Given the description of an element on the screen output the (x, y) to click on. 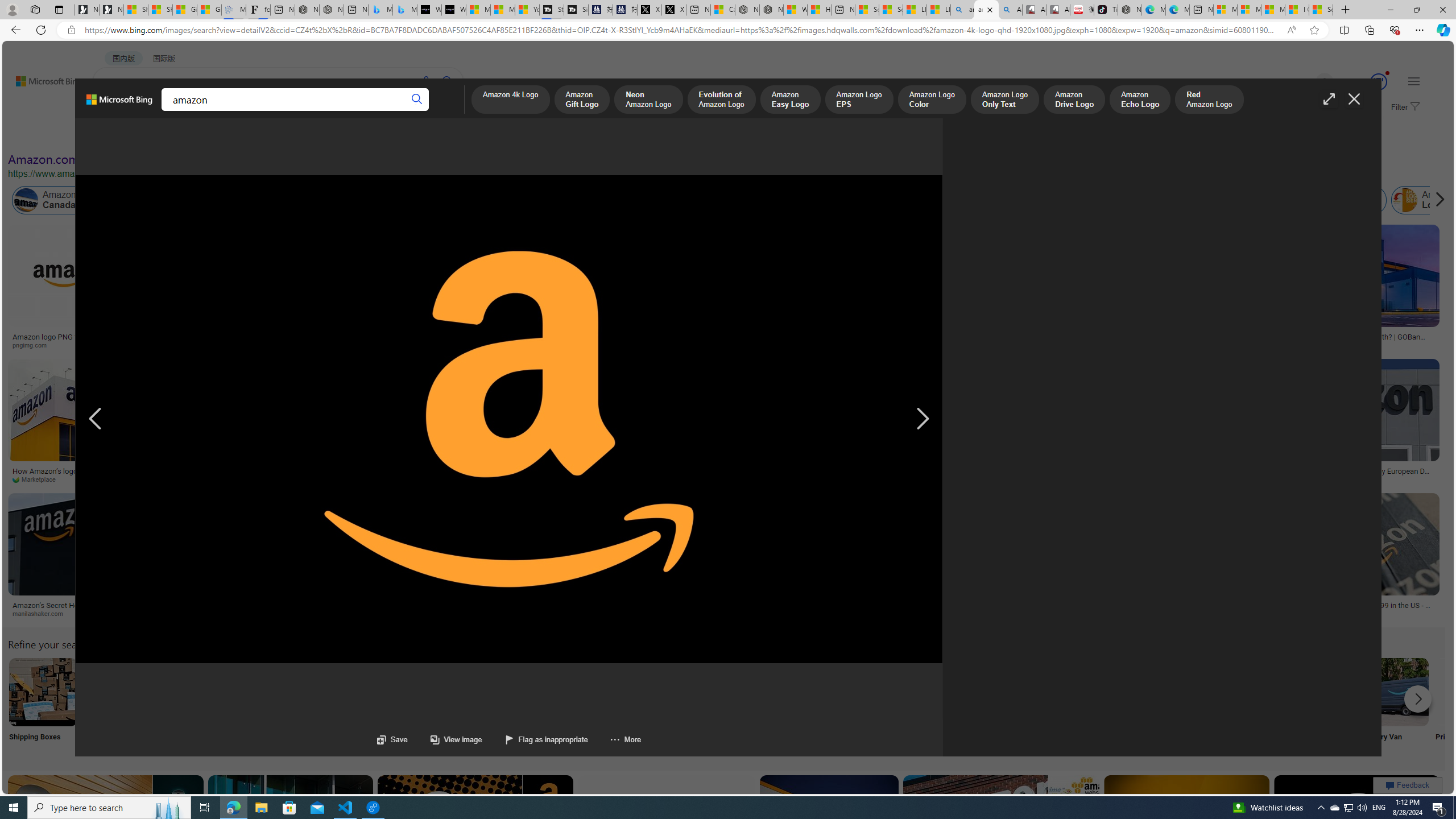
downdetector.ae (860, 344)
Sale Items (1169, 706)
Amazon Shipping Boxes Shipping Boxes (42, 706)
Amazon Delivery Van Delivery Van (1393, 706)
Amazon Echo Robot - Search Images (1009, 9)
agilitypr.com (588, 612)
Amazon Online Shopping Homepage Online Shopping Homepage (868, 706)
Amazon Package (1346, 199)
